Given the description of an element on the screen output the (x, y) to click on. 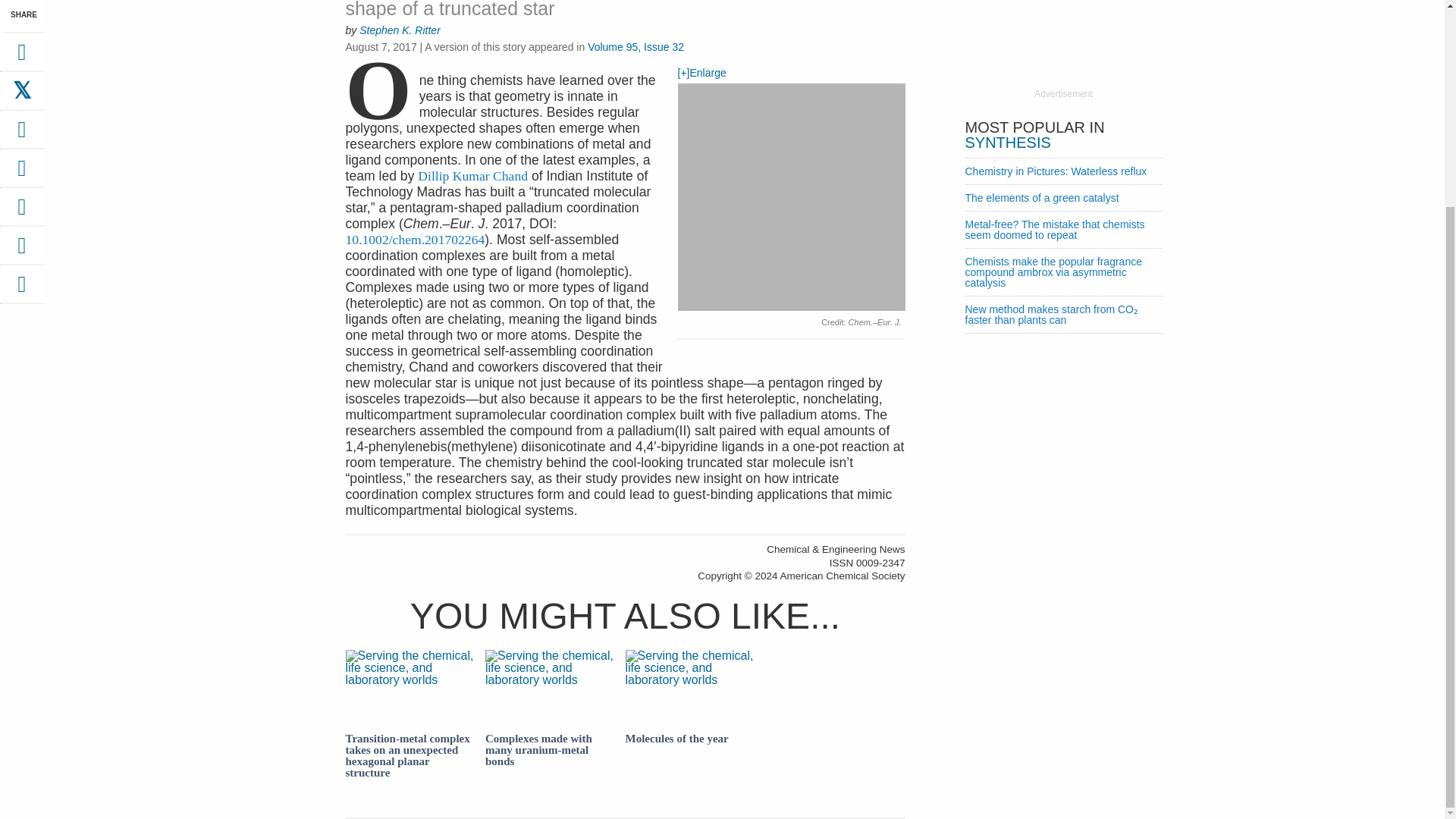
Chand group website (472, 175)
A Truncated Molecular Star (415, 239)
WeChat (21, 212)
